Given the description of an element on the screen output the (x, y) to click on. 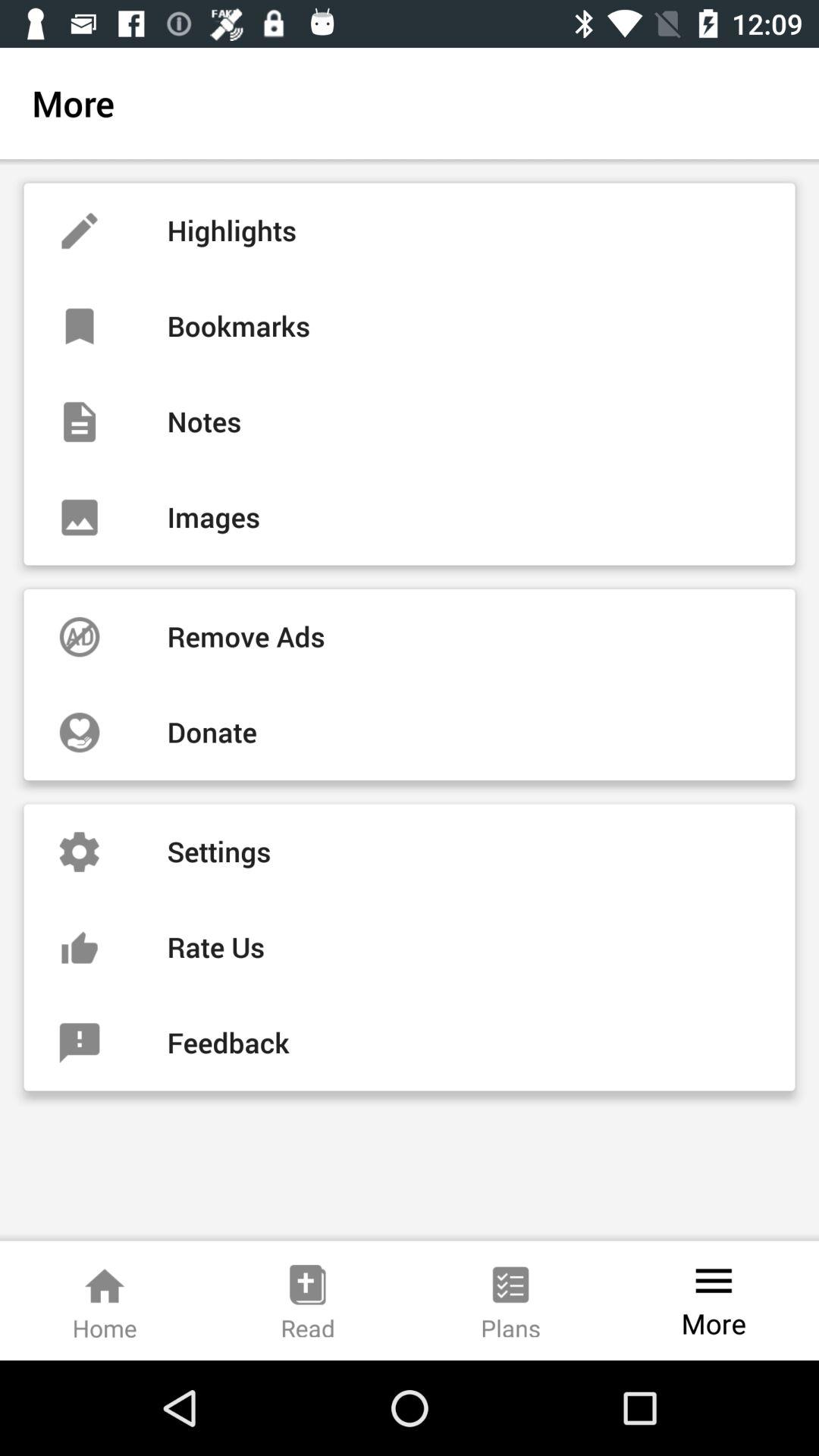
turn on the icon below remove ads (409, 732)
